Given the description of an element on the screen output the (x, y) to click on. 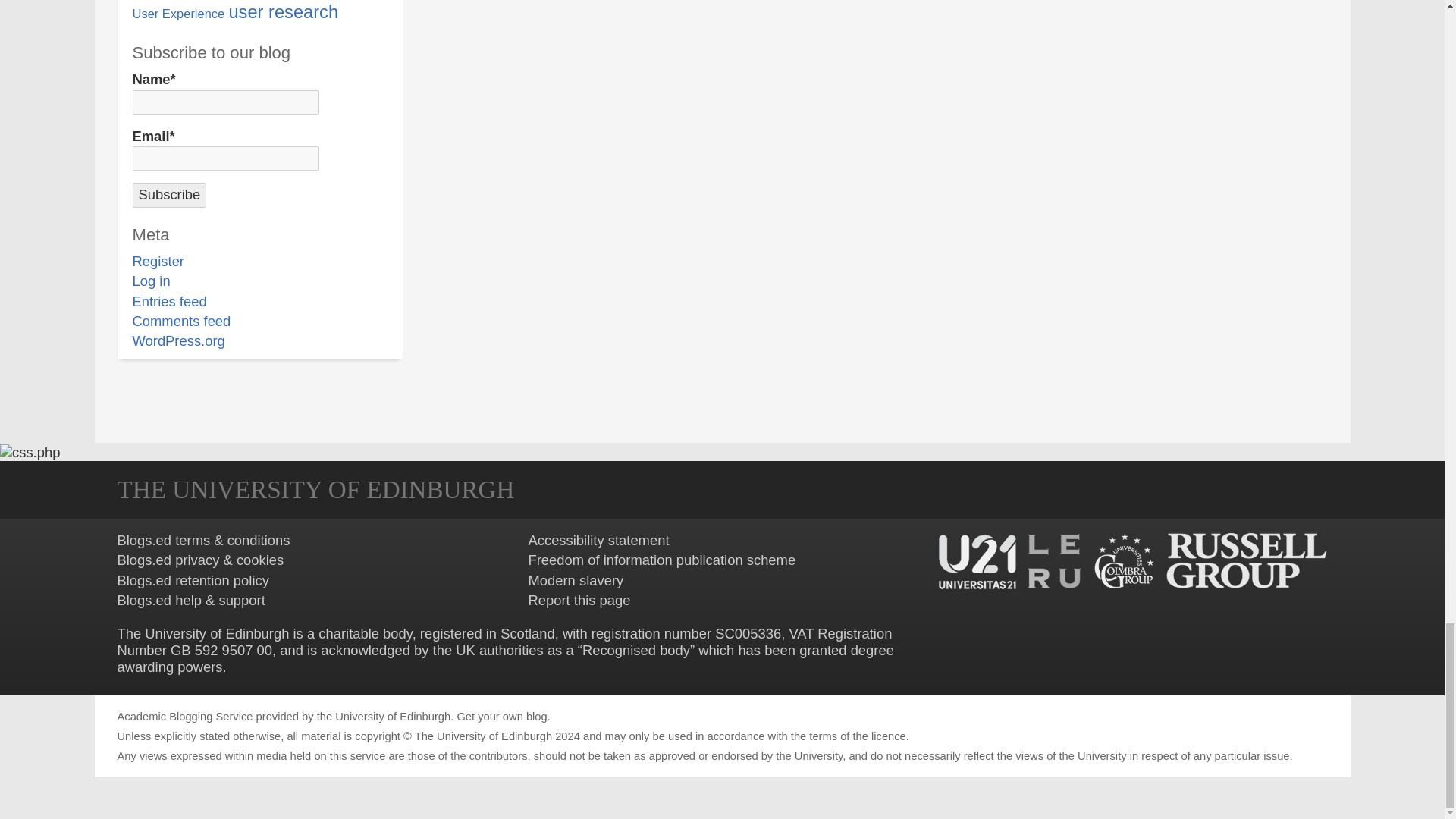
Subscribe (169, 194)
